Given the description of an element on the screen output the (x, y) to click on. 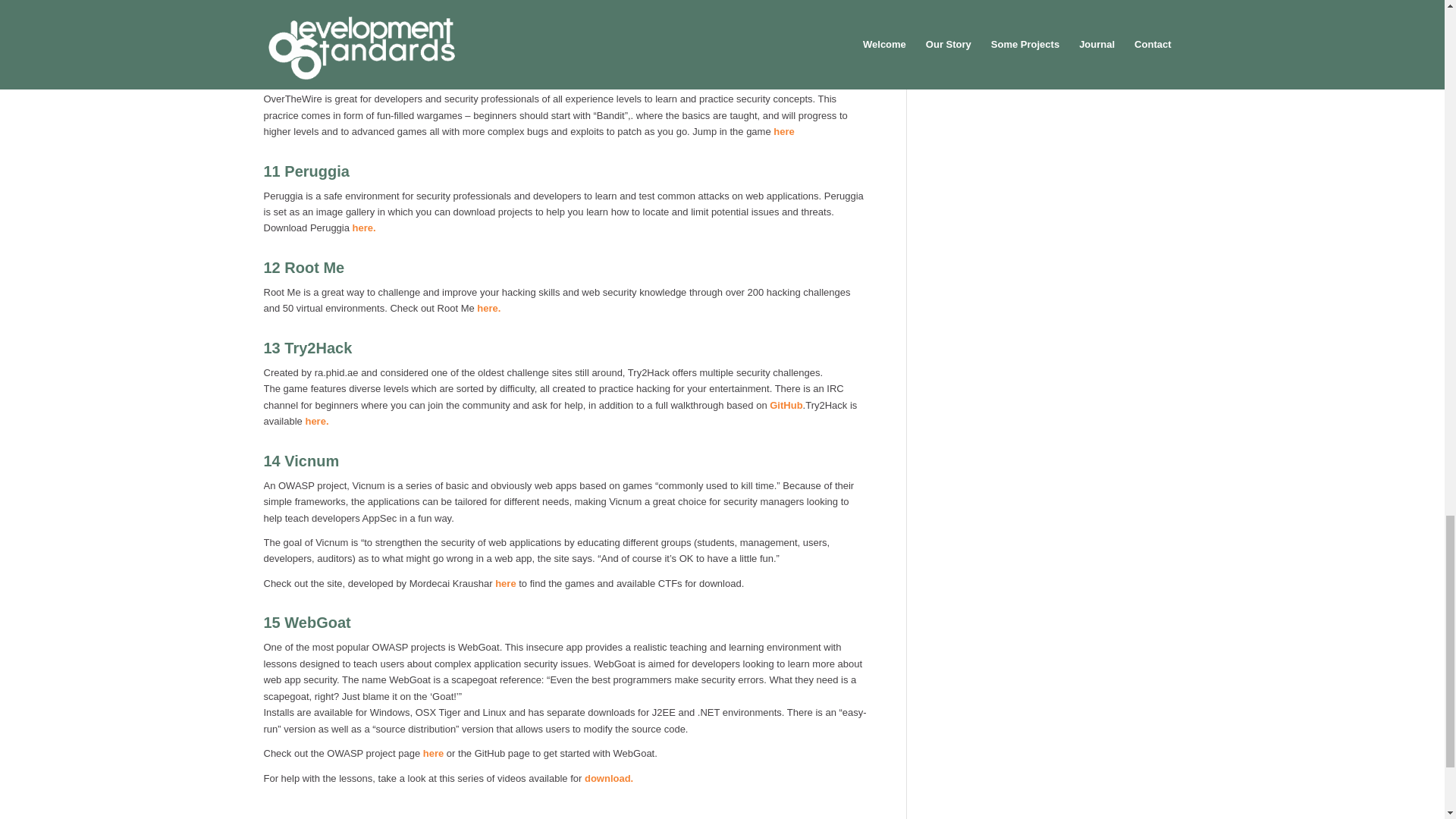
Peruggia (316, 170)
here (390, 18)
here (783, 131)
here. (362, 227)
Root Me (313, 267)
OverTheWire (330, 74)
here. (488, 307)
